Given the description of an element on the screen output the (x, y) to click on. 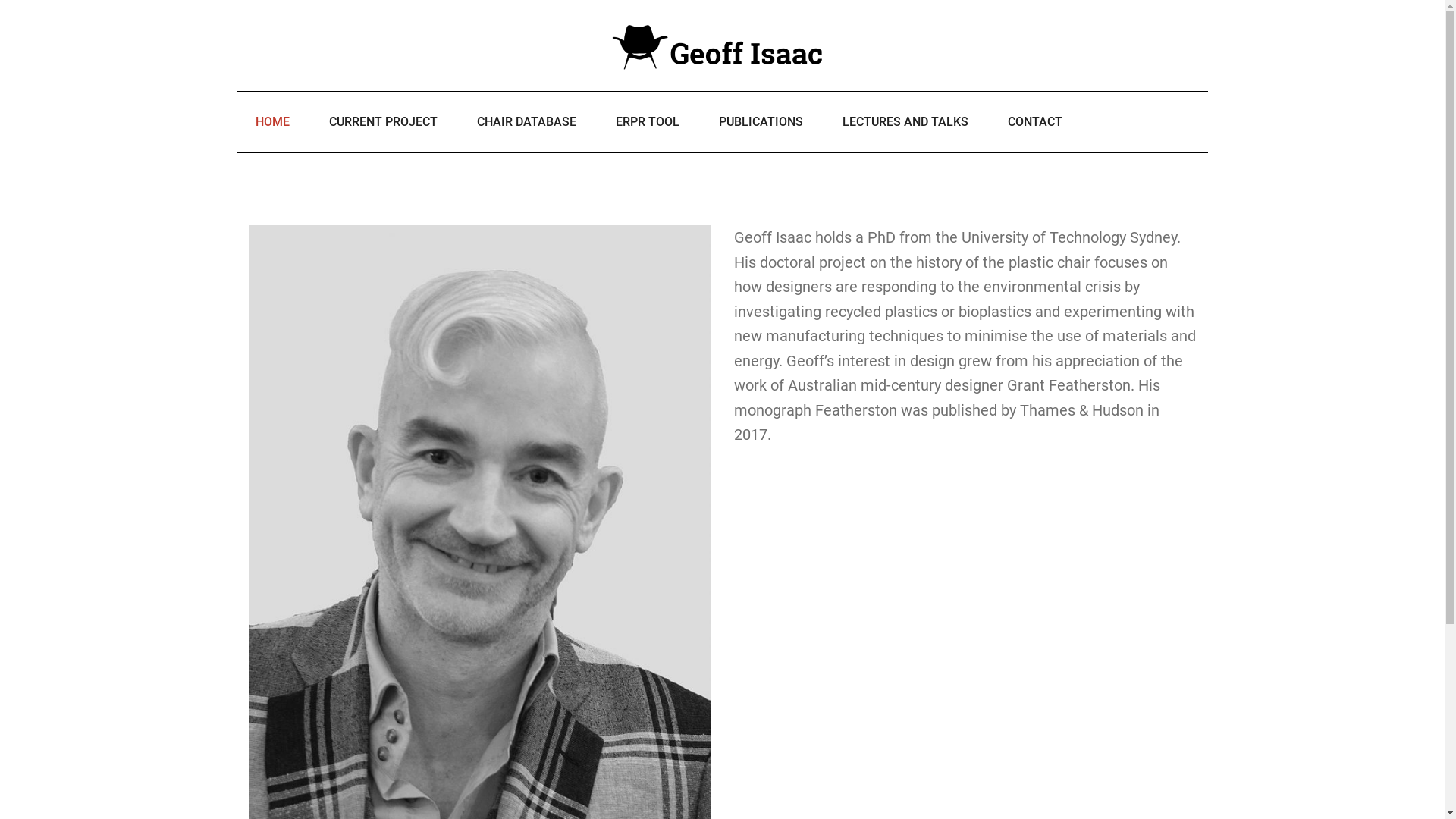
HOME Element type: text (271, 121)
ERPR TOOL Element type: text (647, 121)
CONTACT Element type: text (1033, 121)
CHAIR DATABASE Element type: text (525, 121)
LECTURES AND TALKS Element type: text (904, 121)
Geoff Isaac Element type: text (721, 45)
CURRENT PROJECT Element type: text (382, 121)
Skip to primary navigation Element type: text (0, 0)
PUBLICATIONS Element type: text (760, 121)
